Given the description of an element on the screen output the (x, y) to click on. 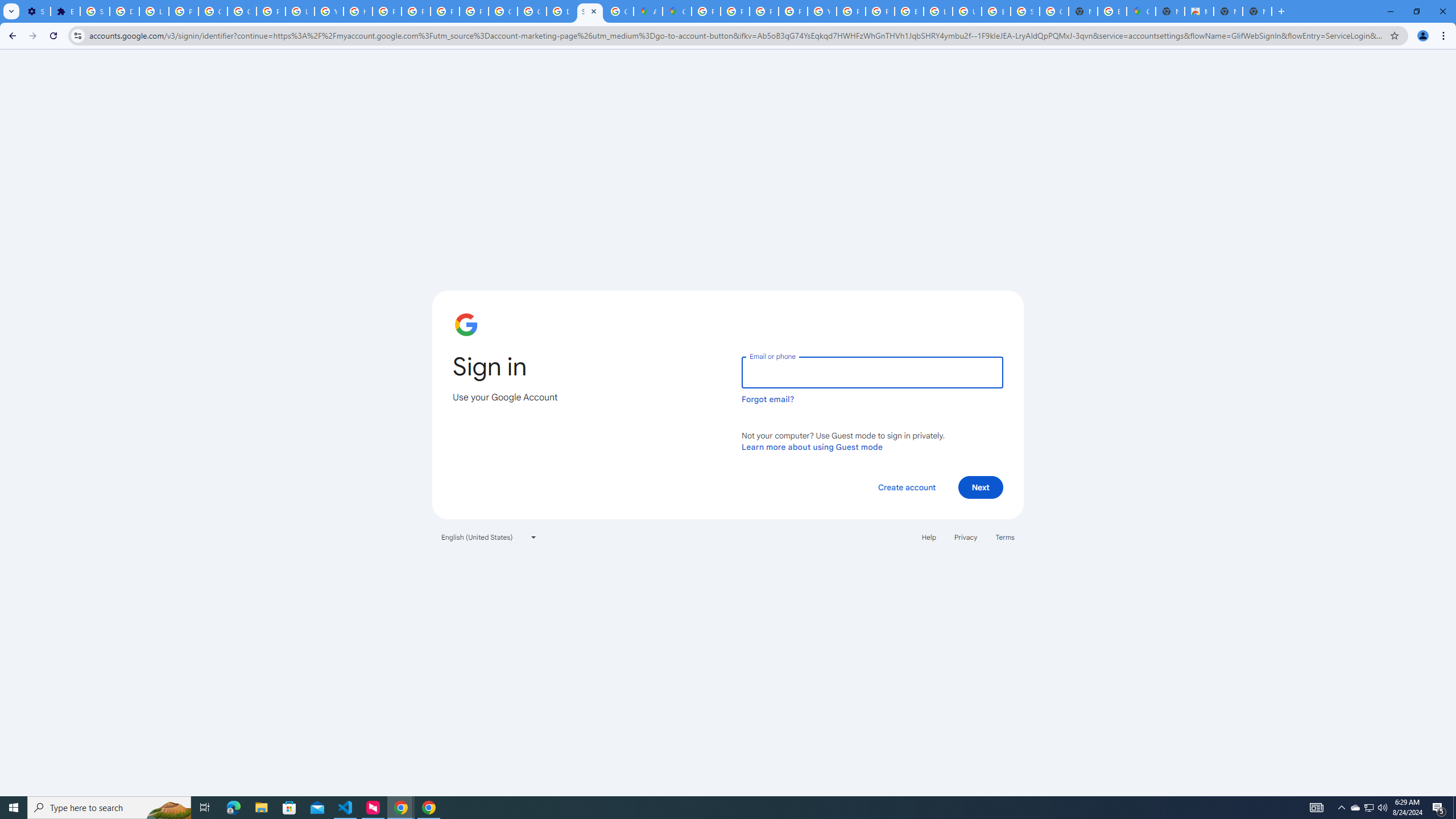
Learn how to find your photos - Google Photos Help (153, 11)
Policy Accountability and Transparency - Transparency Center (705, 11)
Extensions (65, 11)
New Tab (1256, 11)
System (6, 6)
Privacy Help Center - Policies Help (734, 11)
Chrome (1445, 35)
Browse Chrome as a guest - Computer - Google Chrome Help (908, 11)
Google Account Help (242, 11)
System (6, 6)
